Given the description of an element on the screen output the (x, y) to click on. 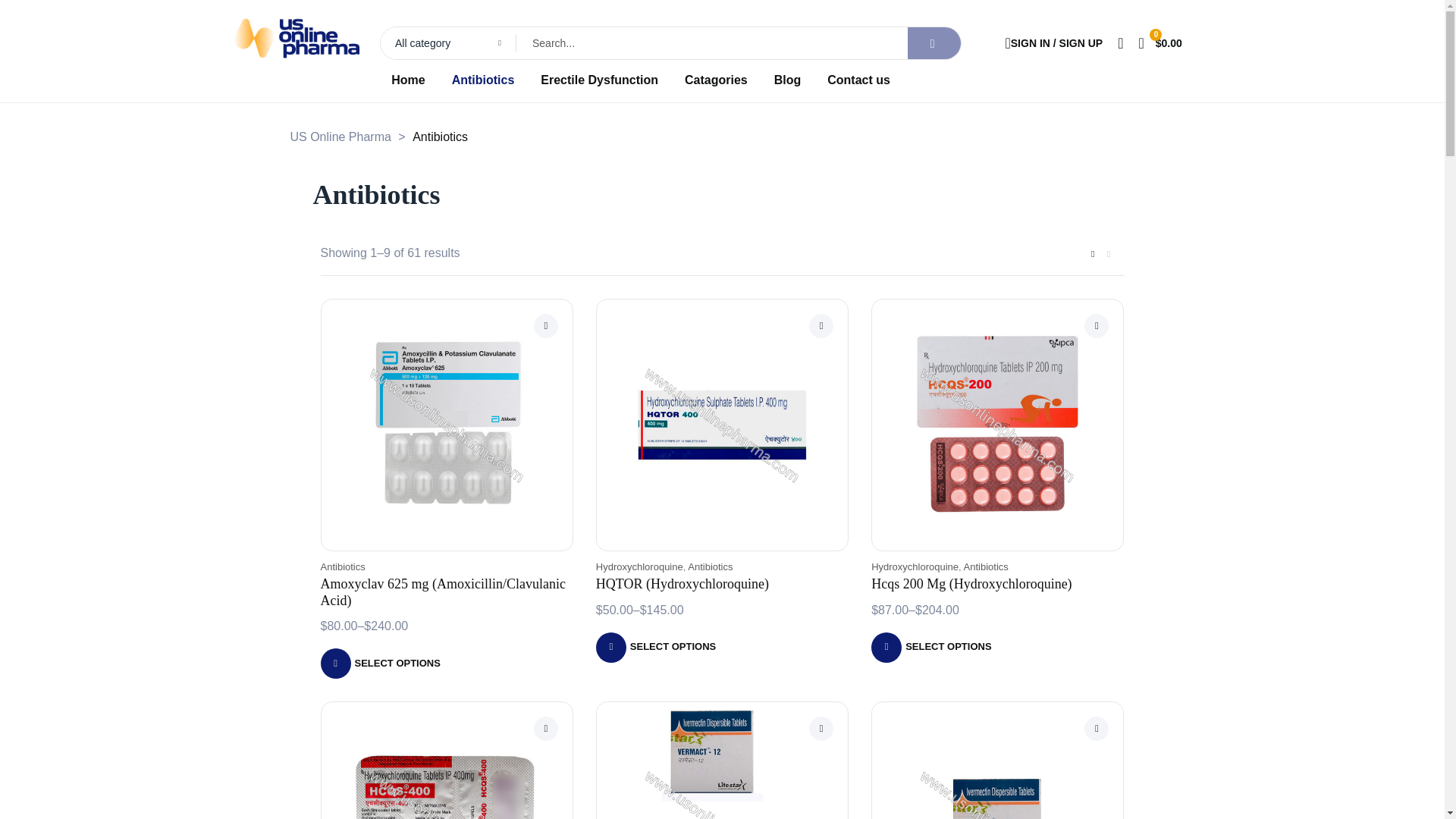
All category (448, 42)
Go to US Online Pharma. (339, 136)
All category (448, 42)
Search (643, 42)
